Given the description of an element on the screen output the (x, y) to click on. 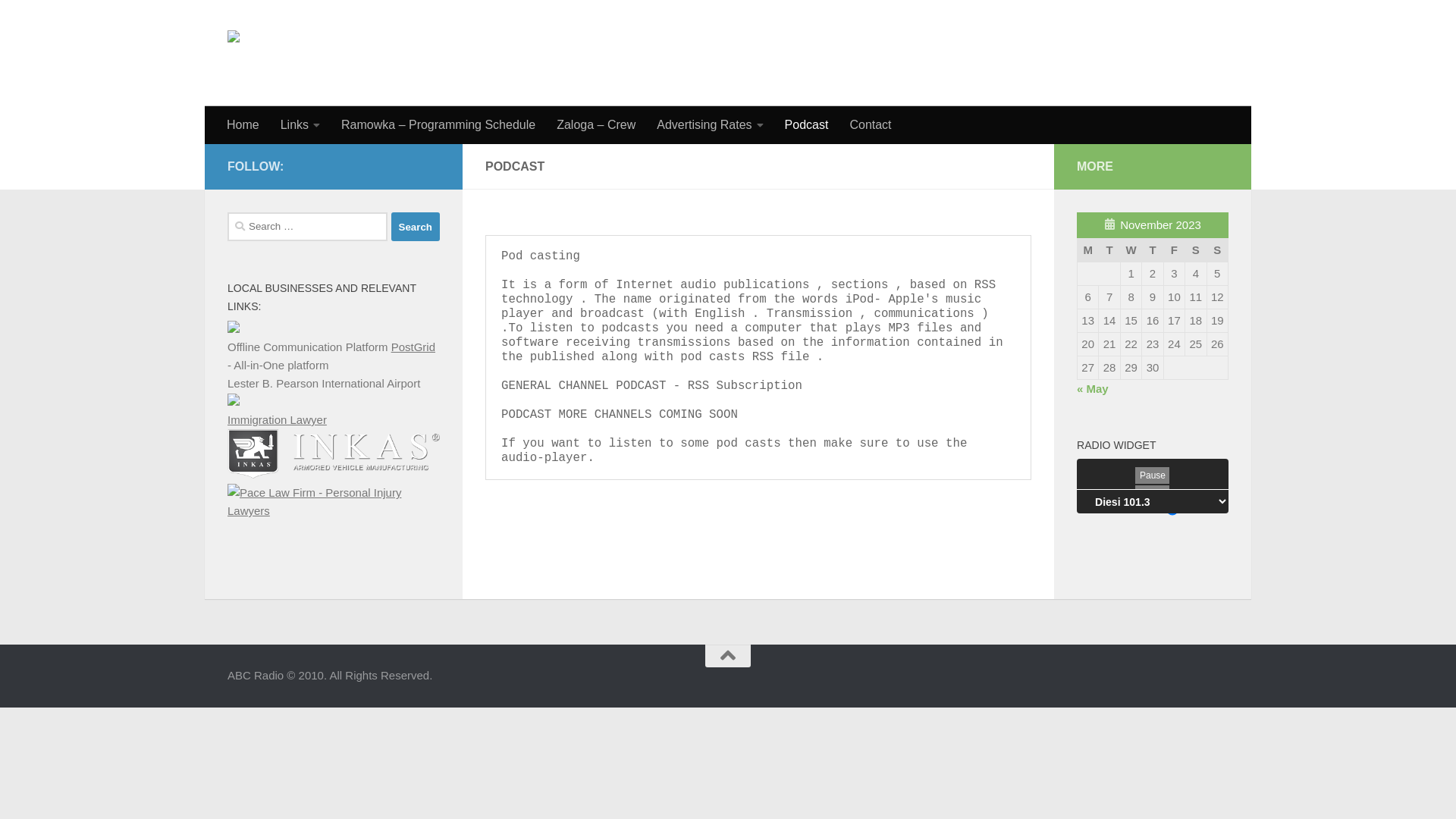
Pause Element type: text (1152, 475)
Home Element type: text (242, 125)
Skip to content Element type: text (64, 20)
Contact Element type: text (869, 125)
Immigration Lawyer Element type: text (276, 419)
Search Element type: text (415, 226)
Mute Element type: text (1152, 493)
Links Element type: text (299, 125)
PostGrid Element type: text (413, 346)
Podcast Element type: text (806, 125)
Advertising Rates Element type: text (709, 125)
ABC Radio | Home page Element type: hover (314, 52)
